Given the description of an element on the screen output the (x, y) to click on. 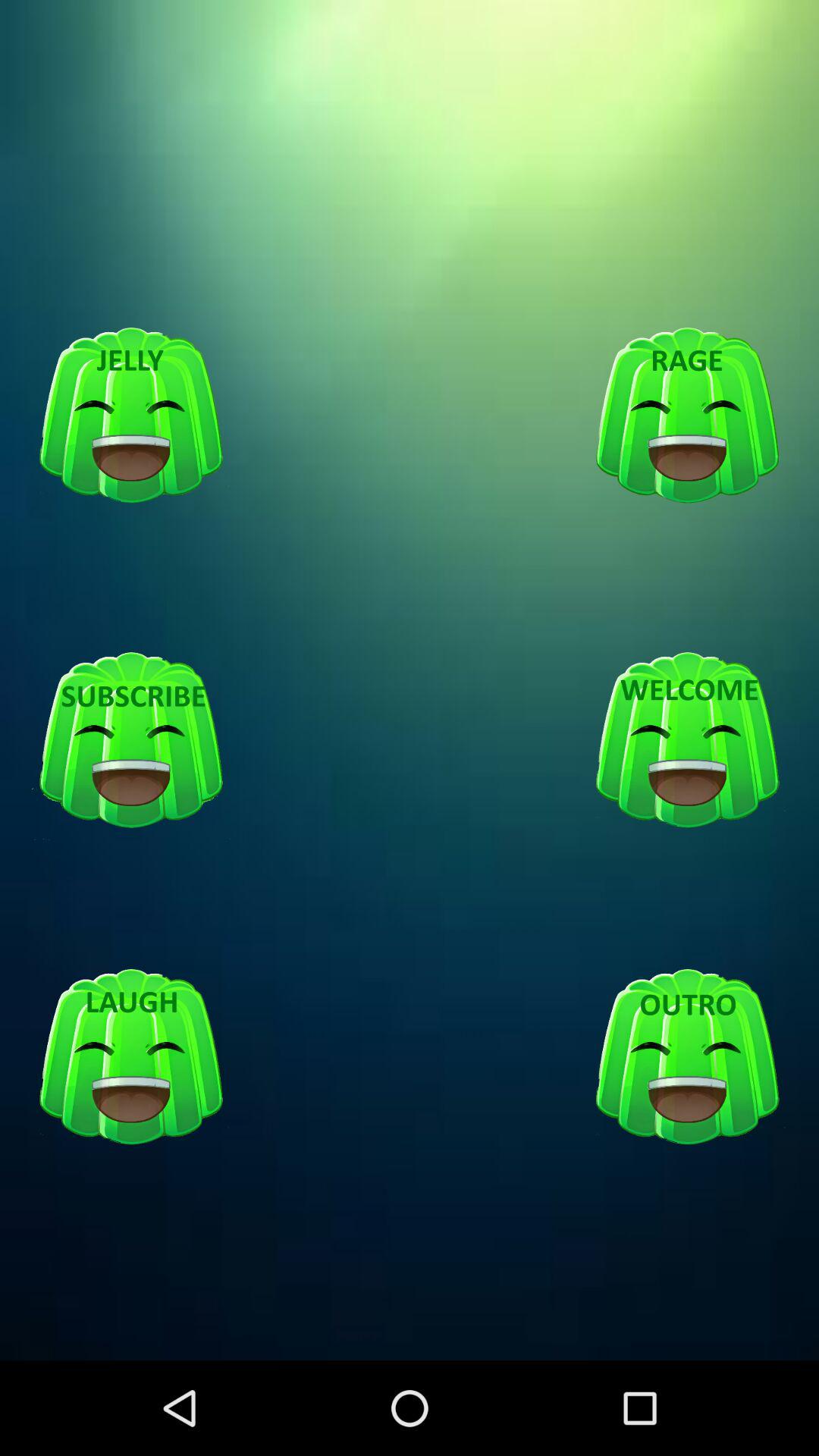
logo (130, 1057)
